Given the description of an element on the screen output the (x, y) to click on. 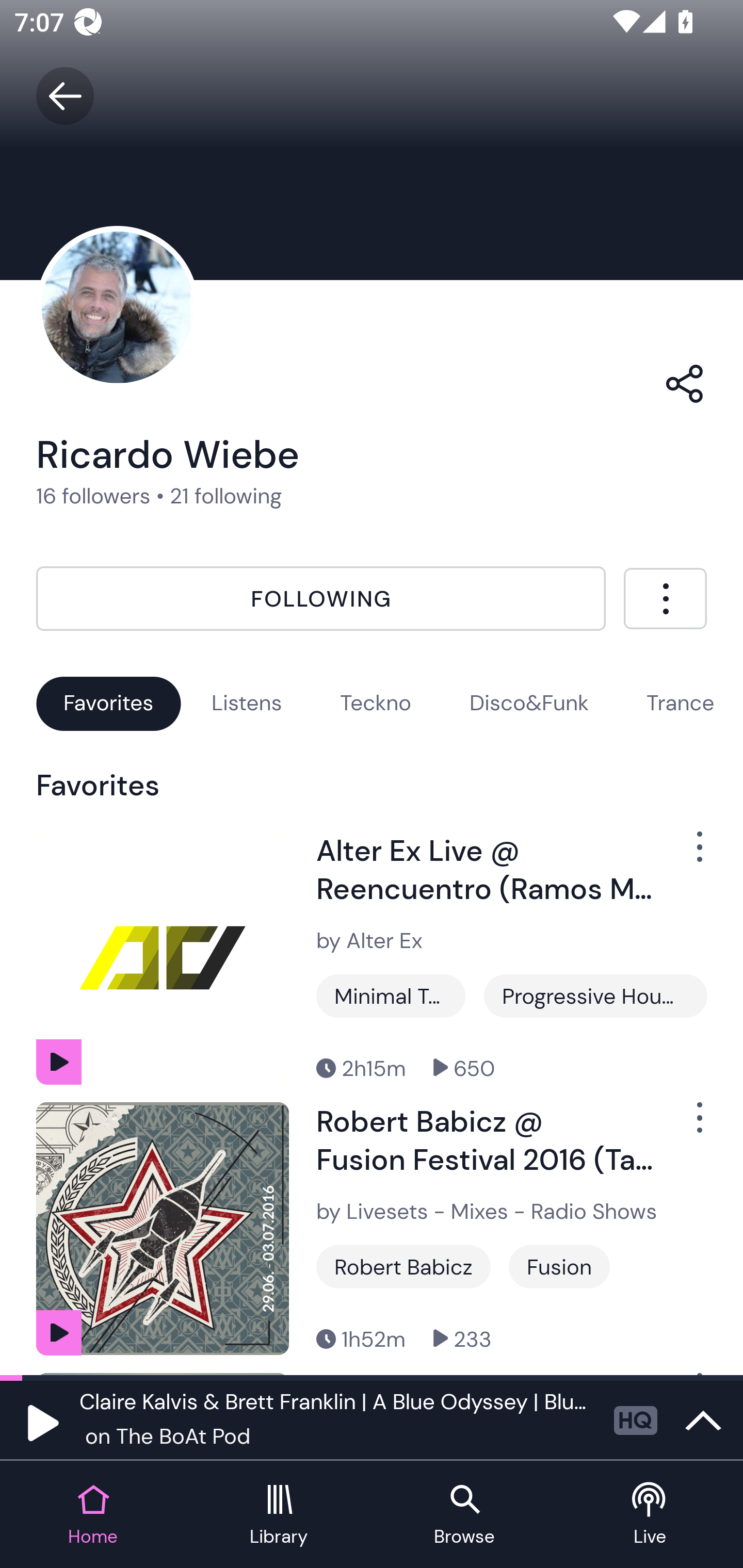
16 followers (93, 495)
21 following (225, 495)
Following FOLLOWING (320, 598)
More Menu (665, 597)
Favorites (108, 702)
Listens (246, 702)
Teckno (375, 702)
Disco&Funk (528, 702)
Trance (680, 702)
Show Options Menu Button (688, 854)
Minimal Tech House (390, 995)
Progressive House Deep House Tech House (594, 995)
Show Options Menu Button (688, 1125)
Robert Babicz (403, 1266)
Fusion (559, 1266)
Home tab Home (92, 1515)
Library tab Library (278, 1515)
Browse tab Browse (464, 1515)
Live tab Live (650, 1515)
